Given the description of an element on the screen output the (x, y) to click on. 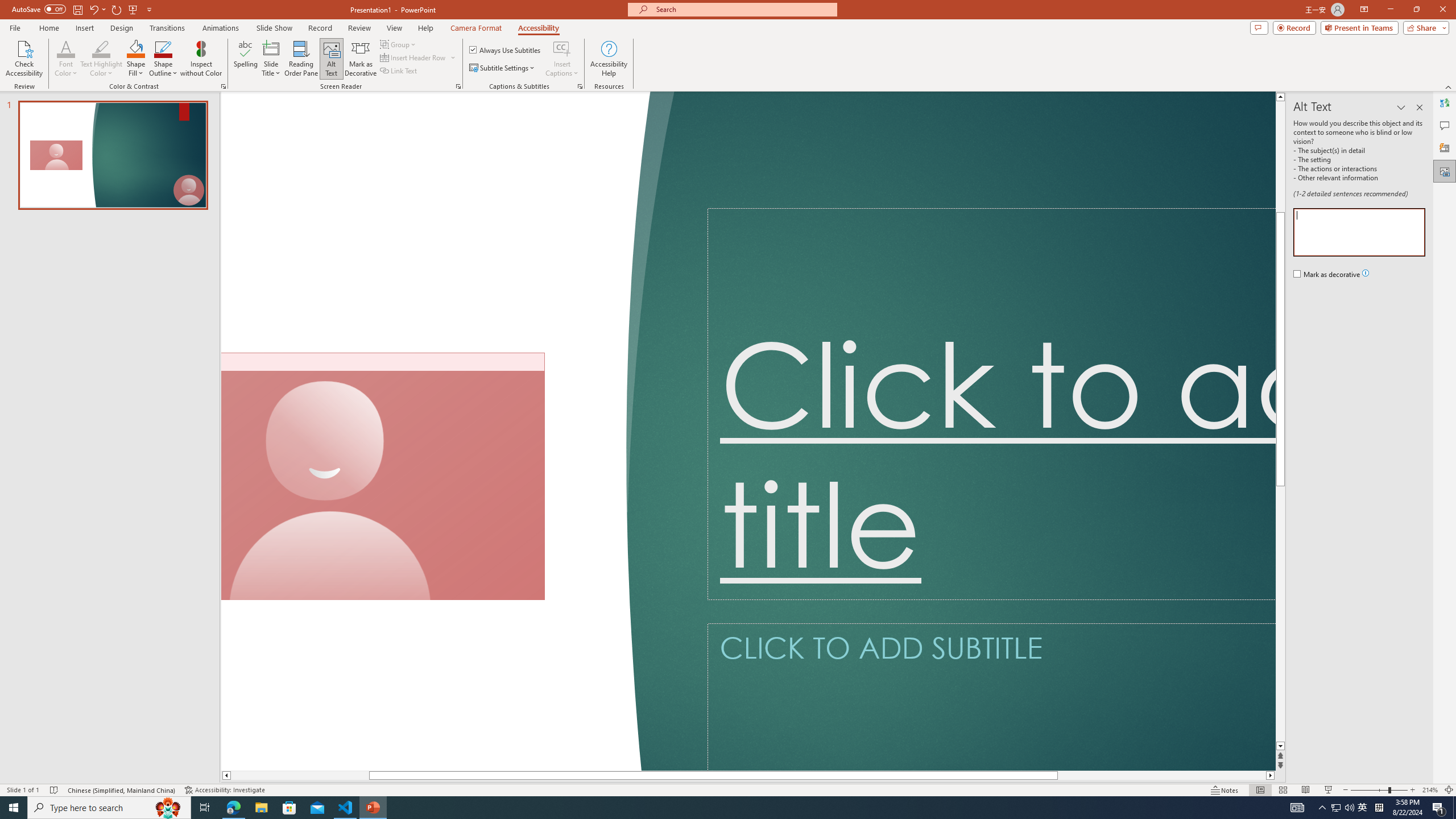
Insert Captions (561, 48)
